Given the description of an element on the screen output the (x, y) to click on. 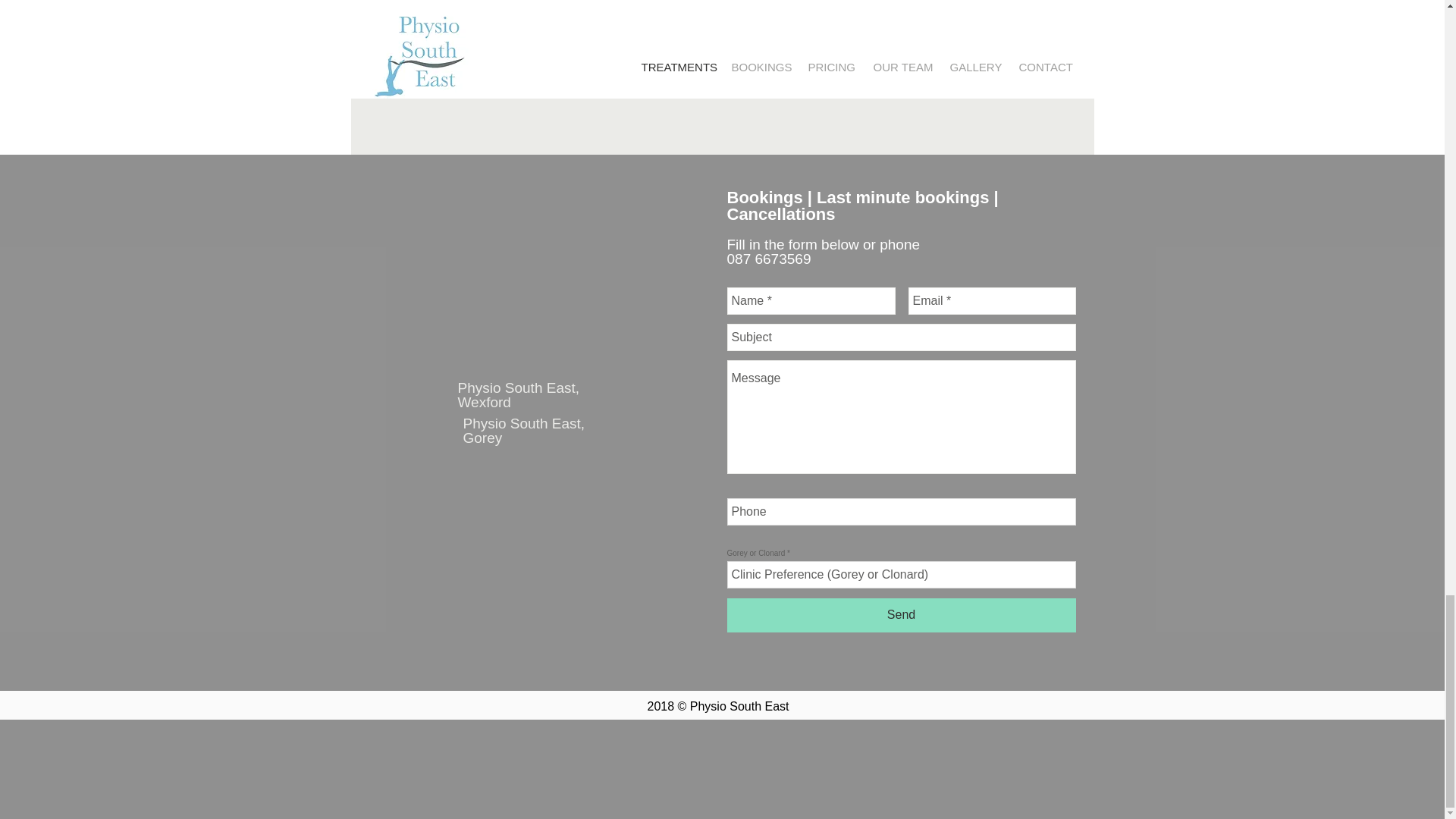
Send (900, 615)
Google Maps (543, 282)
Google Maps (544, 547)
